Given the description of an element on the screen output the (x, y) to click on. 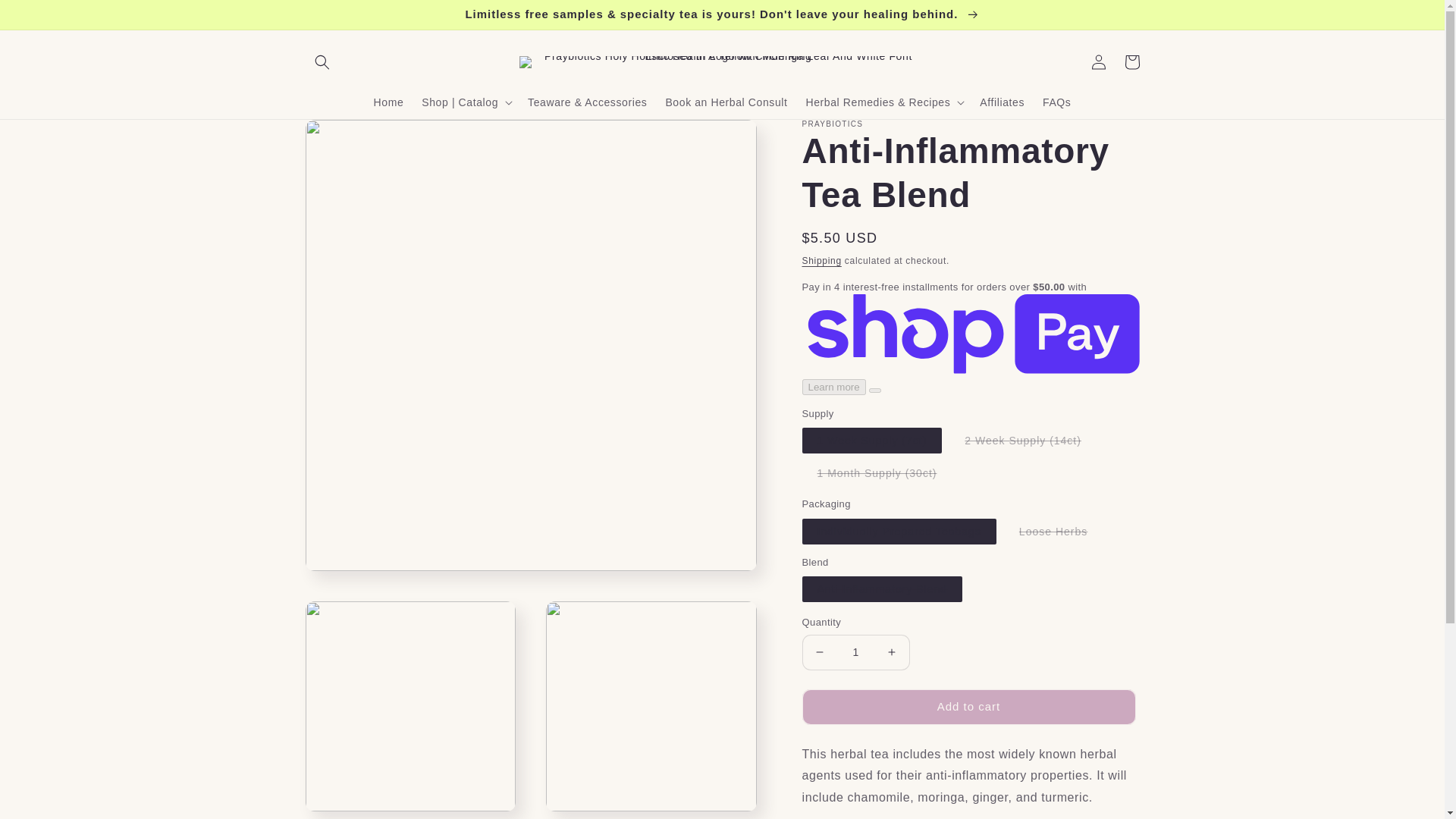
1 (856, 652)
Book an Herbal Consult (726, 101)
Skip to content (45, 17)
Home (389, 101)
